Given the description of an element on the screen output the (x, y) to click on. 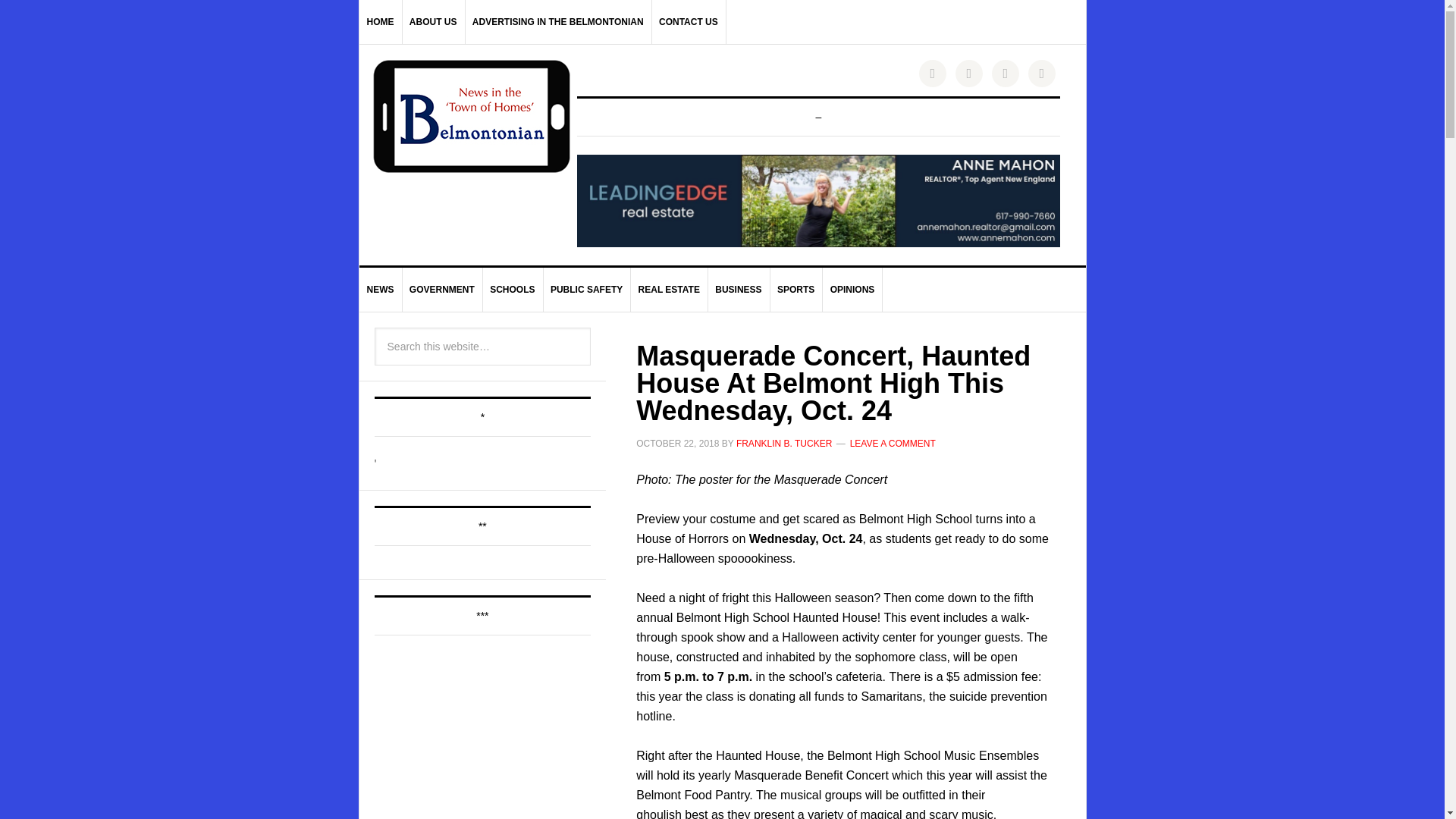
LEAVE A COMMENT (893, 443)
HOME (381, 22)
SPORTS (796, 289)
NEWS (381, 289)
Real Estate (668, 289)
ABOUT US (433, 22)
OPINIONS (852, 289)
REAL ESTATE (668, 289)
CONTACT US (688, 22)
THE BELMONTONIAN (471, 116)
